Given the description of an element on the screen output the (x, y) to click on. 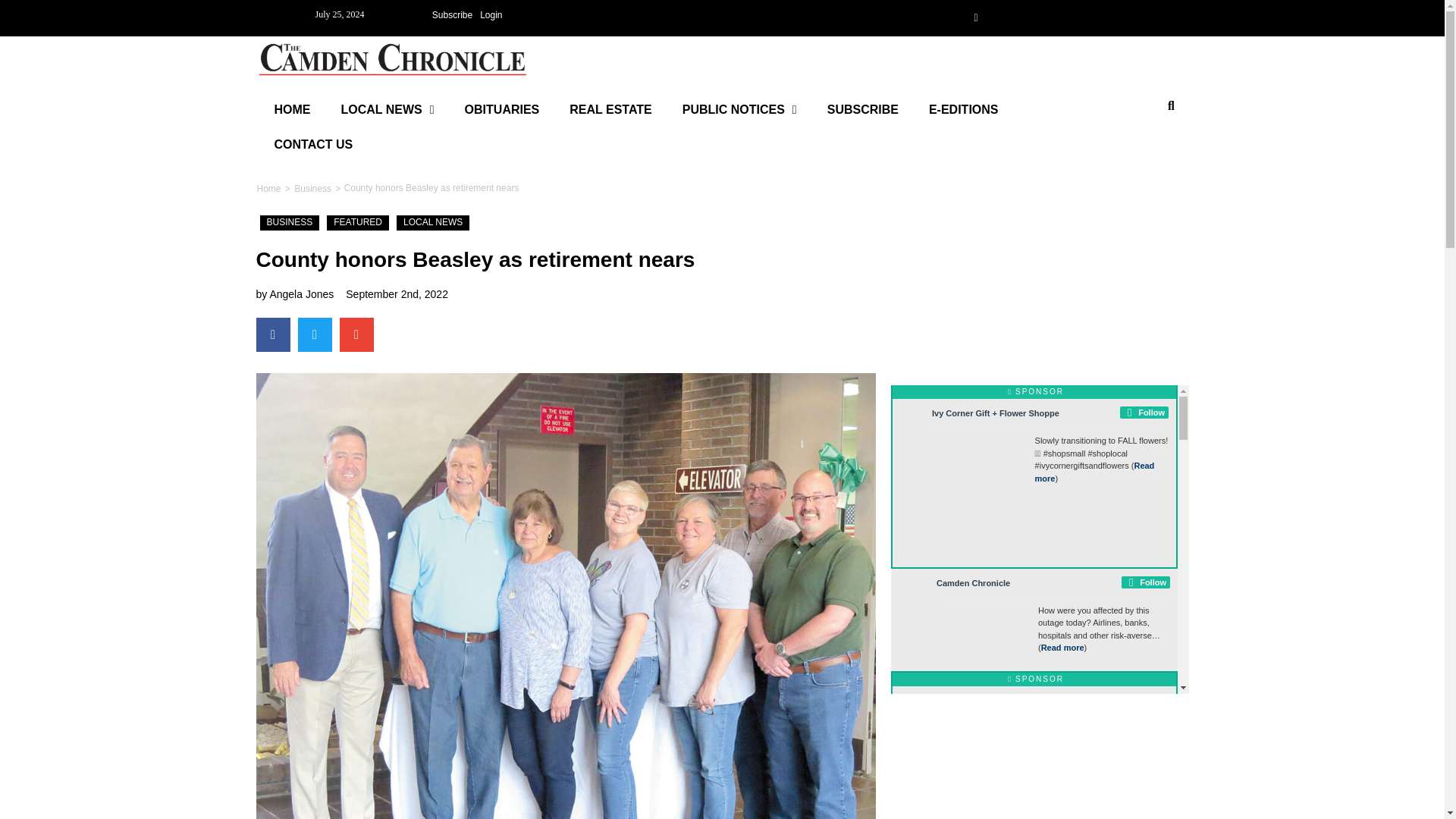
by Angela Jones (295, 293)
PUBLIC NOTICES (739, 109)
CONTACT US (313, 144)
Home (269, 188)
Login (490, 14)
OBITUARIES (501, 109)
Subscribe (452, 14)
BUSINESS (289, 222)
FEATURED (357, 222)
County honors Beasley as retirement nears (431, 188)
LOCAL NEWS (433, 222)
E-EDITIONS (963, 109)
LOCAL NEWS (387, 109)
Business (312, 188)
REAL ESTATE (610, 109)
